Given the description of an element on the screen output the (x, y) to click on. 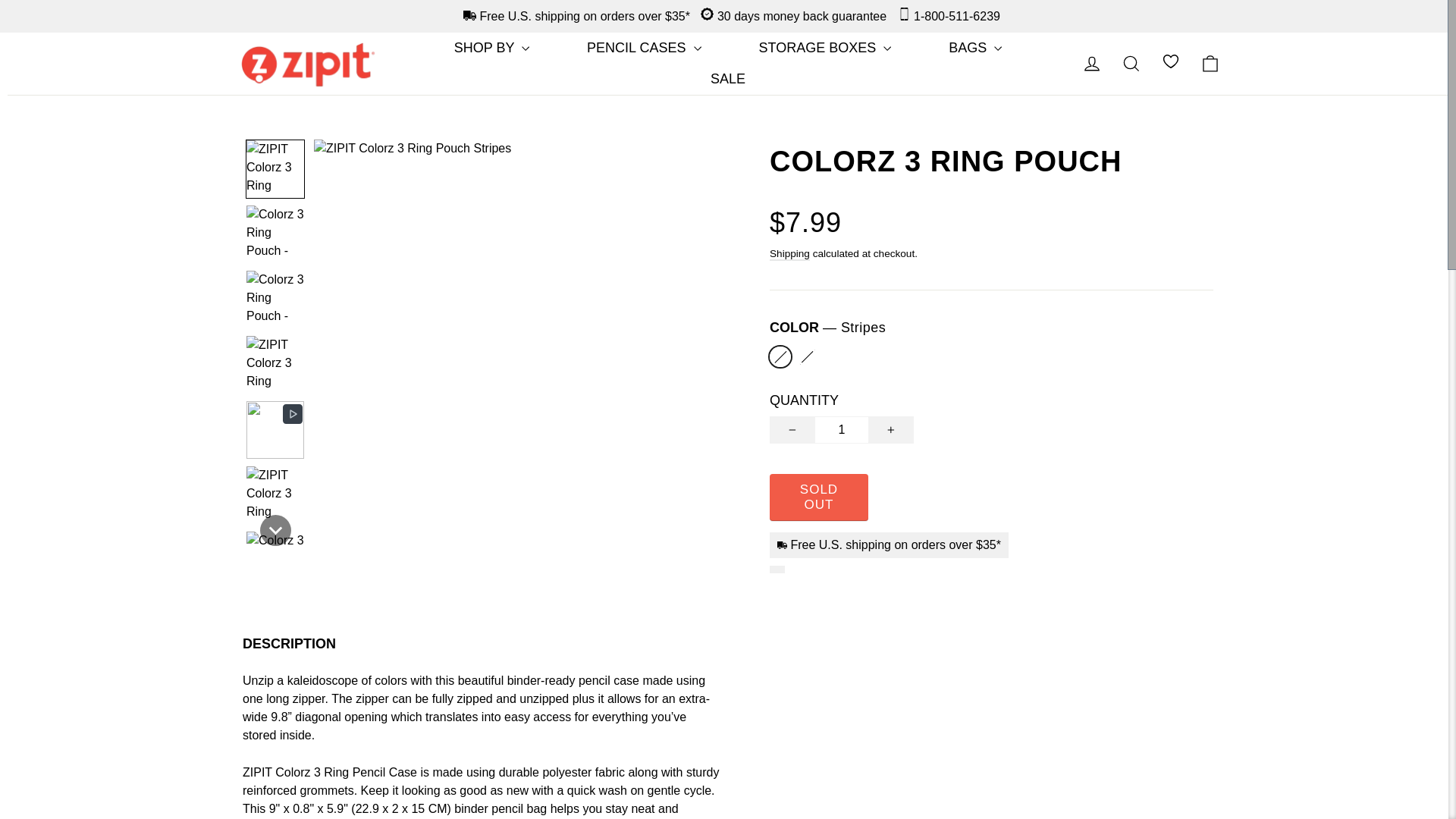
1 (842, 429)
1-800-511-6239 (944, 15)
